Given the description of an element on the screen output the (x, y) to click on. 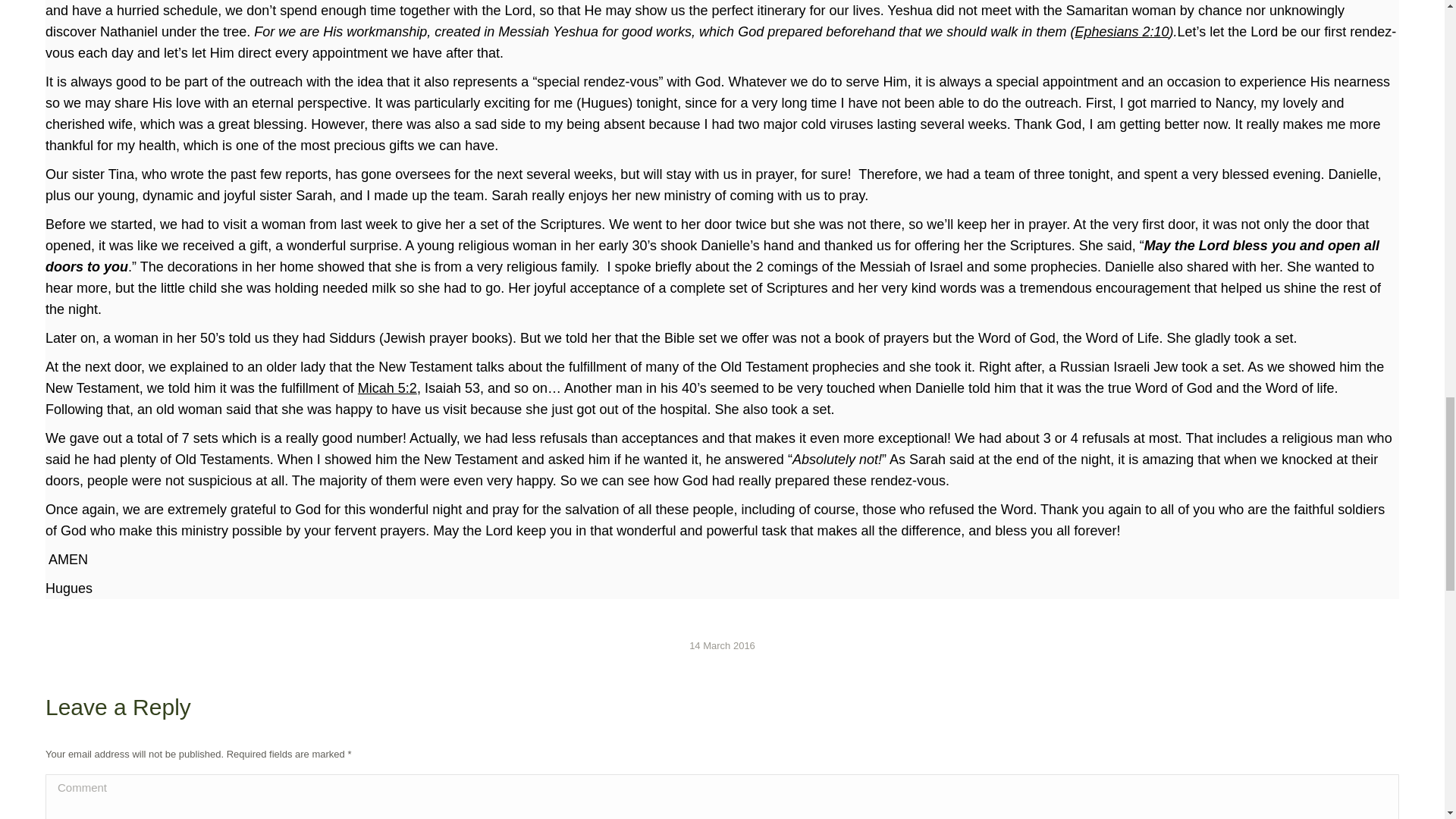
10:52 am (721, 645)
